Given the description of an element on the screen output the (x, y) to click on. 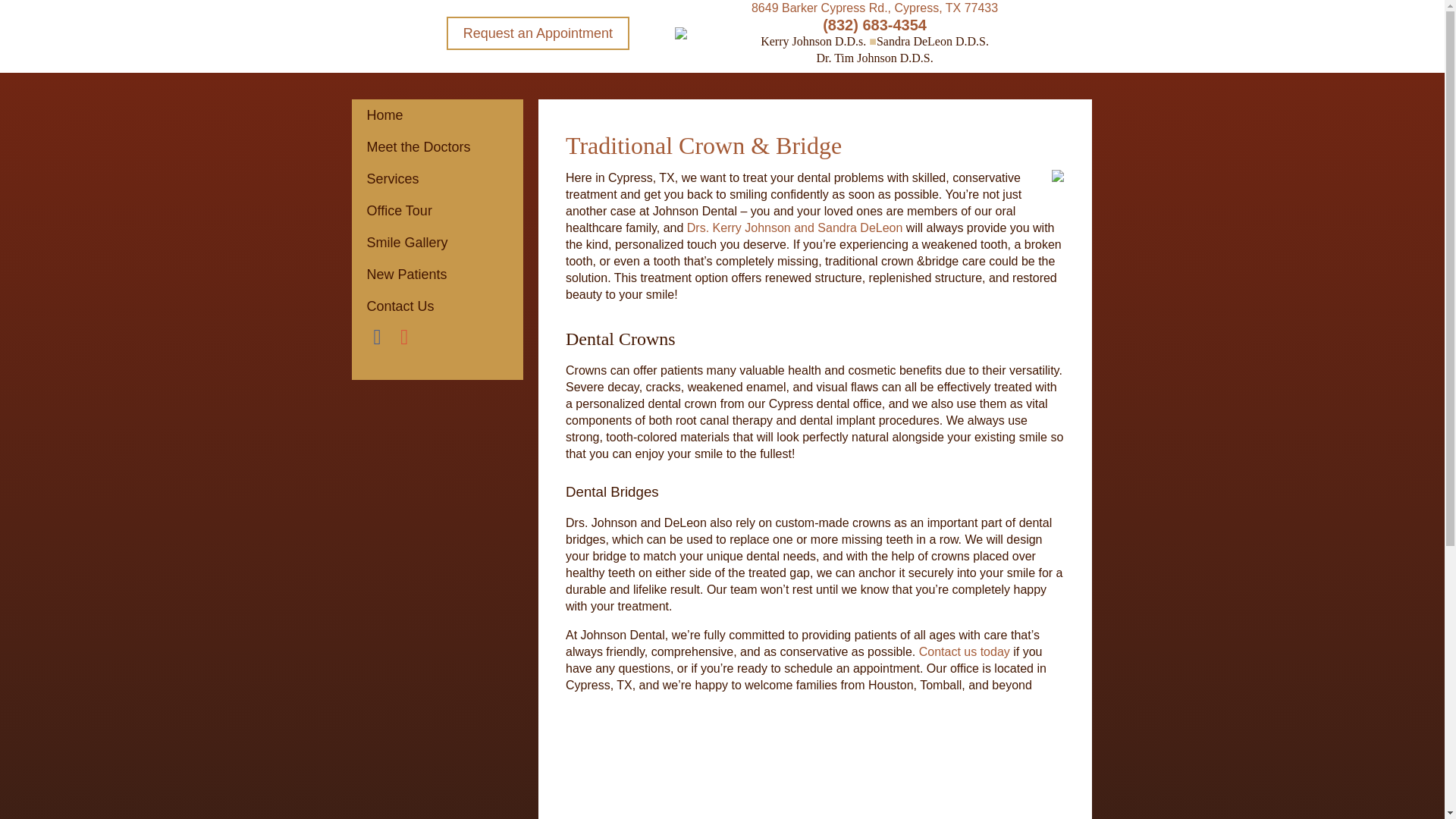
Smile Gallery (437, 242)
Office Tour (437, 210)
Meet the Doctors (437, 146)
Home (437, 115)
Cypress Family Dentist (437, 115)
Request an Appointment (537, 32)
Contact us today (964, 651)
Contact Us (437, 306)
Drs. Kerry Johnson and Sandra DeLeon (794, 227)
Services (437, 178)
